Given the description of an element on the screen output the (x, y) to click on. 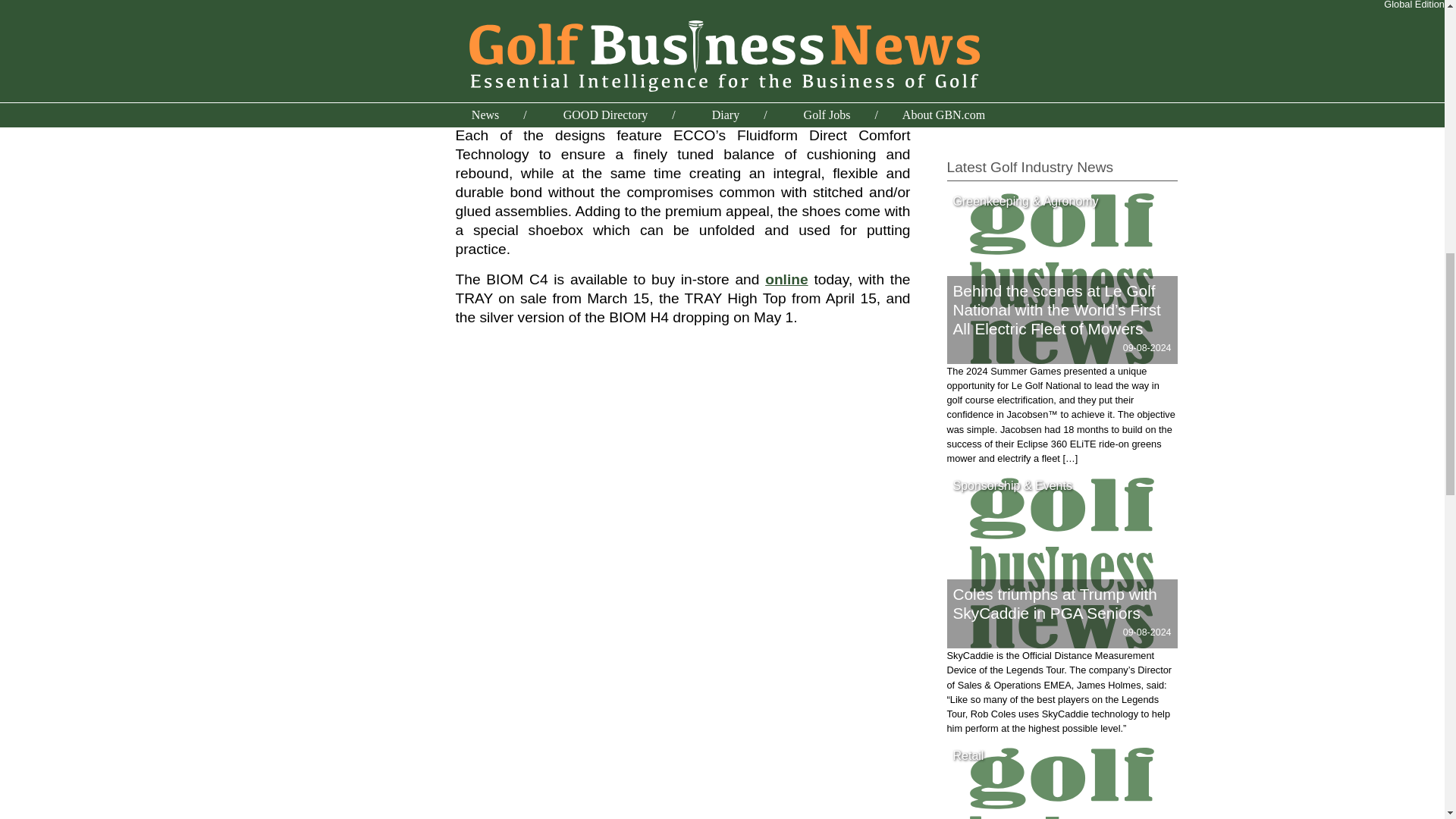
Syngenta (973, 74)
Simon Gidman Golf Course Architects (1056, 25)
Retail (968, 755)
ZEN GREEN STAGE (1003, 110)
Seventy2 Golf (986, 7)
online (786, 279)
